Given the description of an element on the screen output the (x, y) to click on. 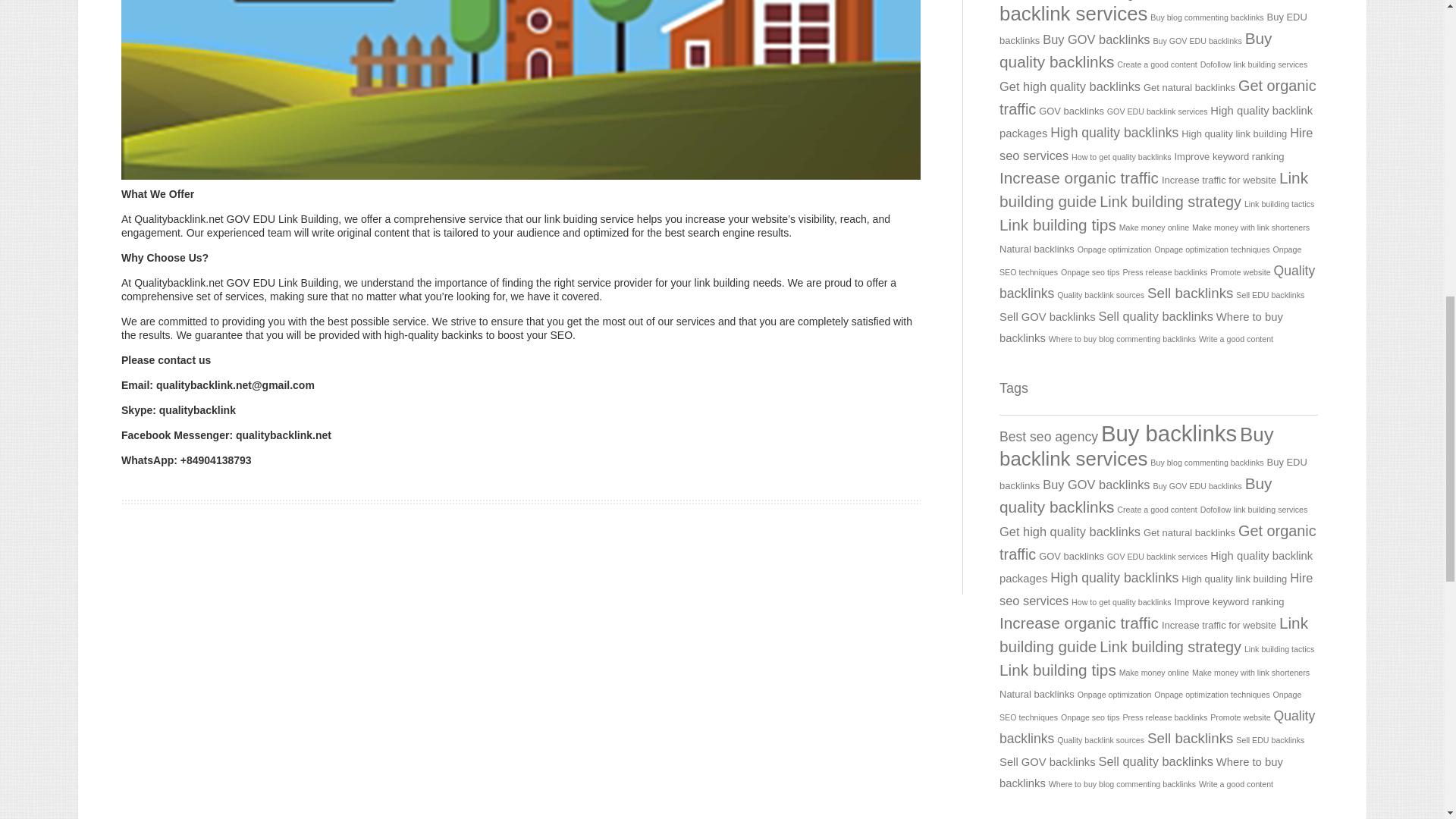
3 topics (1156, 63)
3 topics (1253, 63)
4 topics (1071, 111)
9 topics (1157, 96)
4 topics (1152, 28)
3 topics (1157, 111)
17 topics (1136, 12)
7 topics (1113, 132)
10 topics (1134, 49)
